Given the description of an element on the screen output the (x, y) to click on. 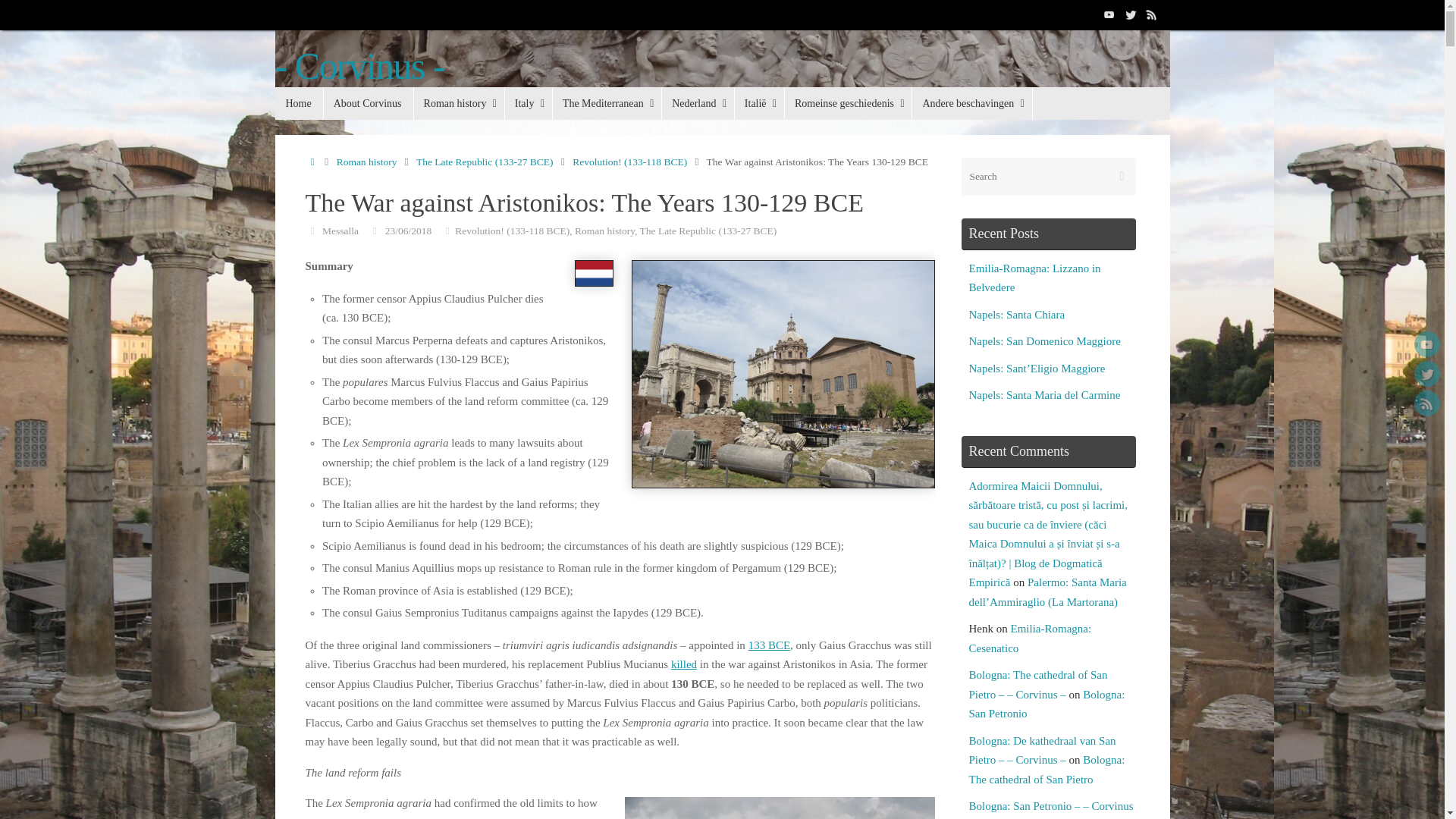
Date (374, 229)
About Corvinus (368, 102)
YouTube (1426, 344)
YouTube (1108, 14)
Italy (527, 102)
- Corvinus - (359, 65)
RSS (1426, 403)
Author (311, 229)
RSS (1150, 14)
Home (298, 102)
